Given the description of an element on the screen output the (x, y) to click on. 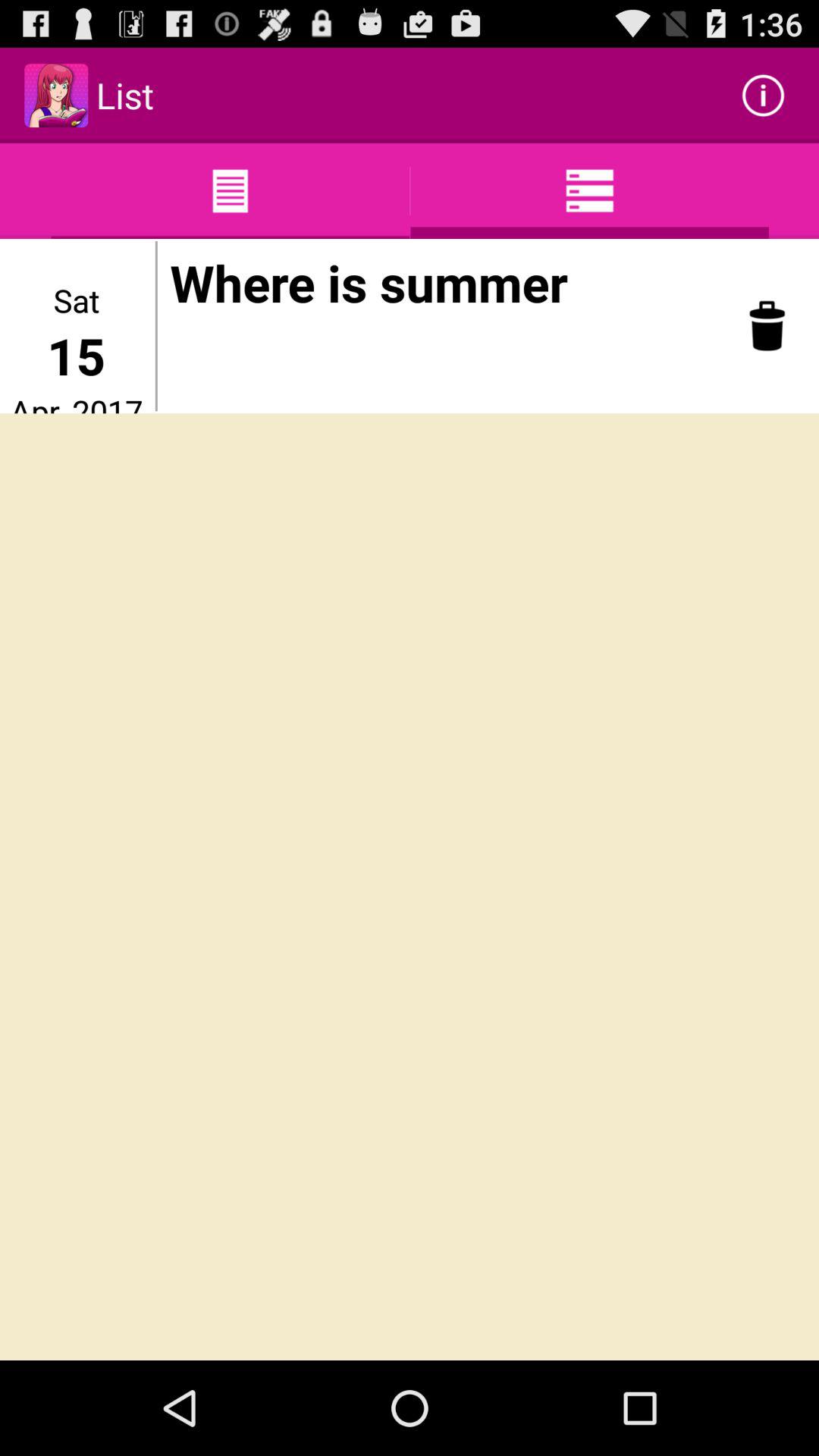
select item above the where is summer (763, 95)
